Given the description of an element on the screen output the (x, y) to click on. 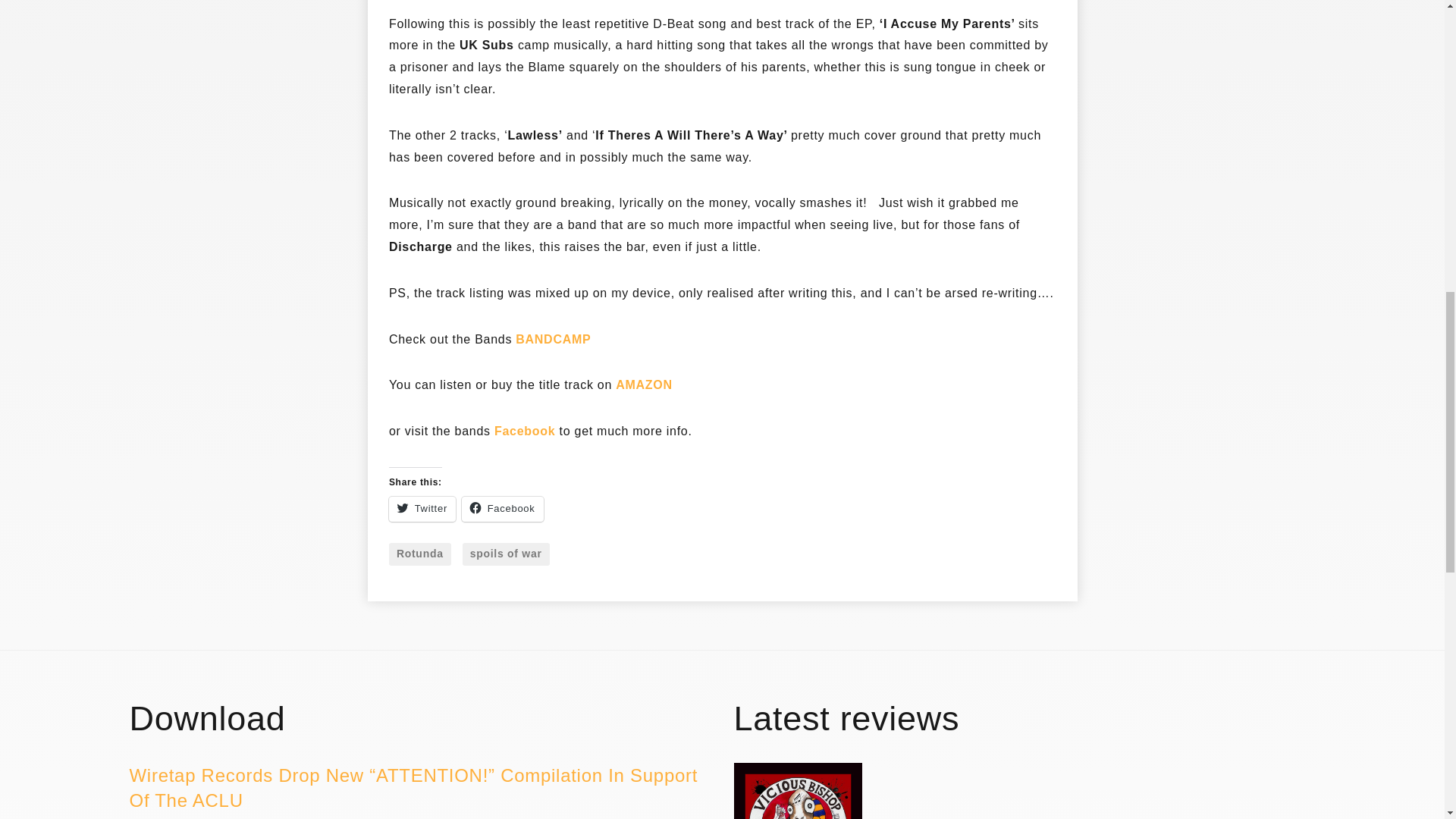
Facebook (502, 508)
Twitter (421, 508)
Click to share on Twitter (421, 508)
BANDCAMP (553, 340)
Facebook (524, 432)
Click to share on Facebook (502, 508)
spoils of war (506, 553)
Rotunda (419, 553)
AMAZON (643, 385)
